Given the description of an element on the screen output the (x, y) to click on. 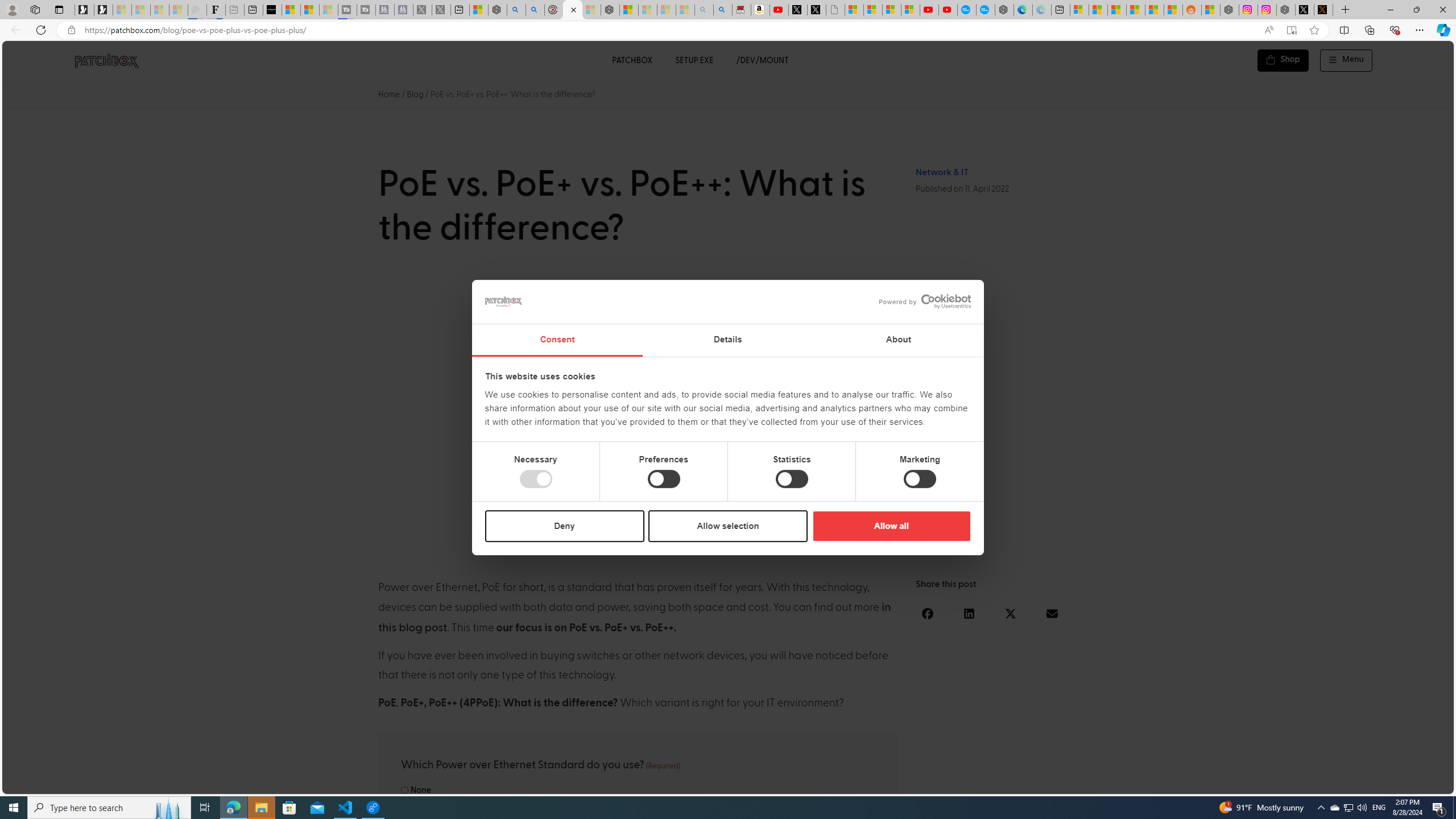
Language switcher : Swedish (1356, 782)
Language switcher : French (1243, 782)
Untitled (835, 9)
Share on facebook (927, 613)
Marketing (920, 479)
Language switcher : Danish (1311, 782)
